Given the description of an element on the screen output the (x, y) to click on. 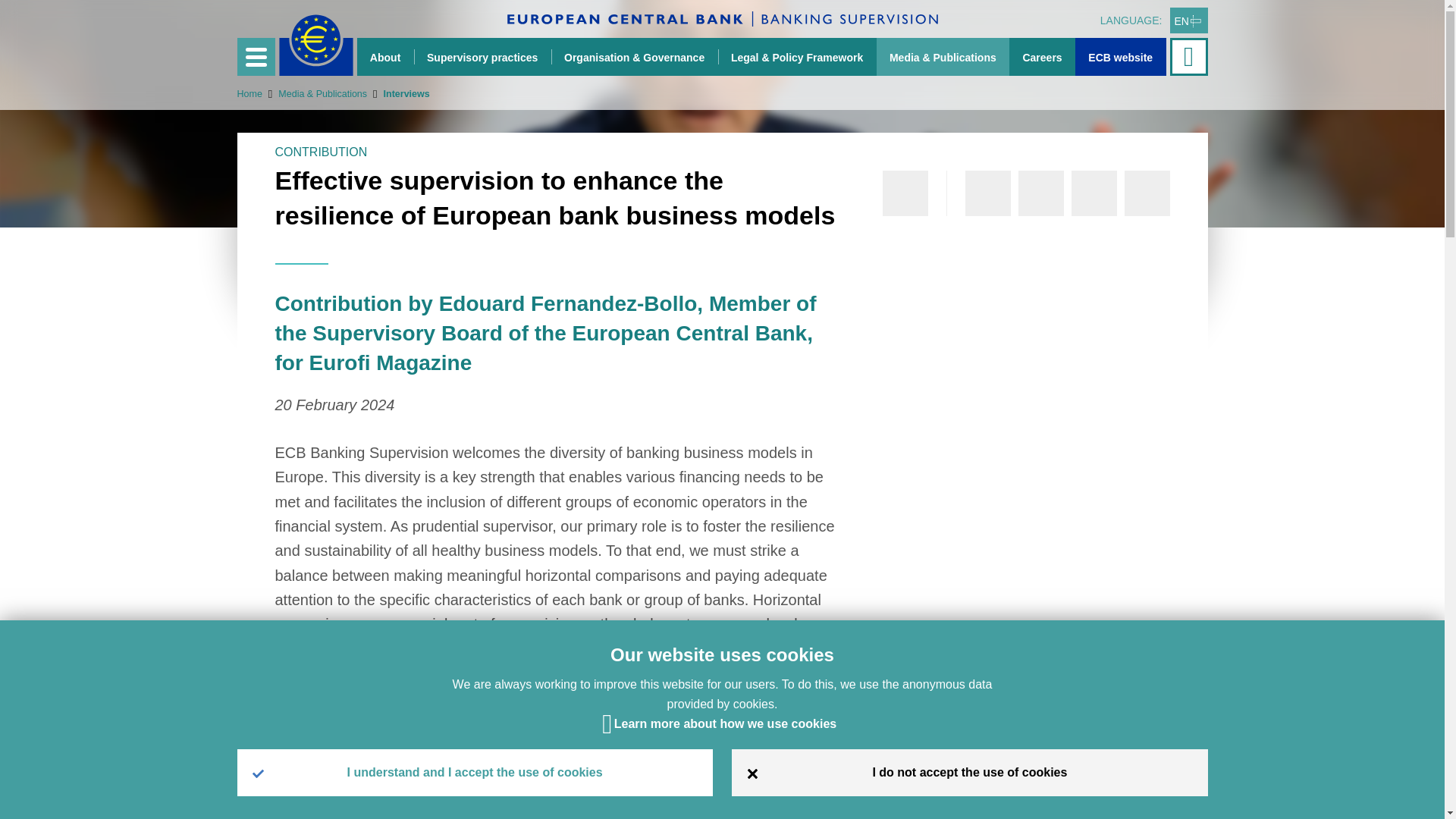
About (384, 56)
Search (1190, 56)
ECB website (1120, 56)
Home (248, 93)
Careers (1042, 56)
Menu (255, 56)
Supervisory practices (482, 56)
Interviews (397, 93)
